Given the description of an element on the screen output the (x, y) to click on. 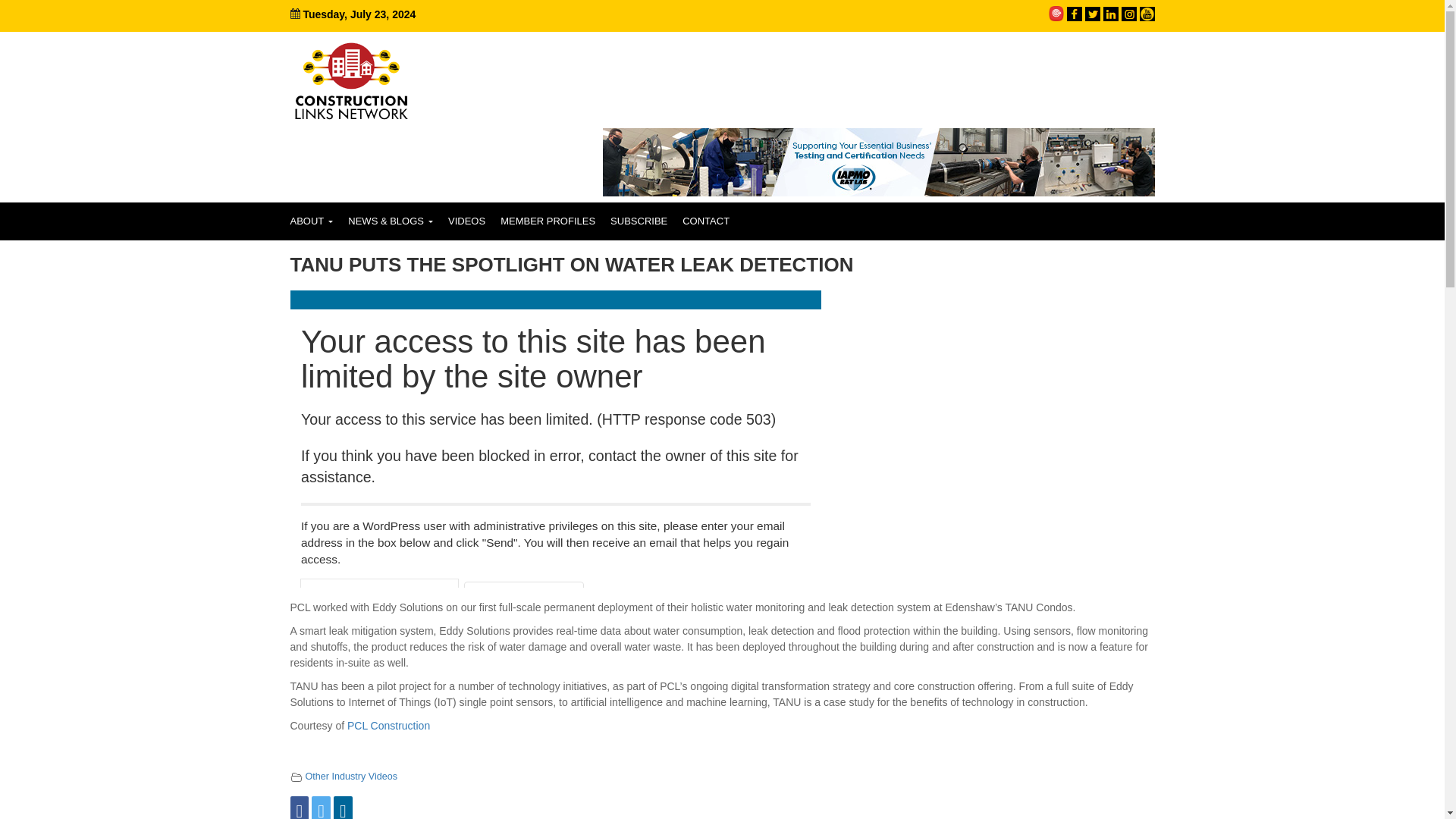
SUBSCRIBE (638, 221)
Other Industry Videos (350, 776)
CONTACT (705, 221)
MEMBER PROFILES (547, 221)
ABOUT (311, 221)
VIDEOS (467, 221)
PCL Construction (388, 725)
